Given the description of an element on the screen output the (x, y) to click on. 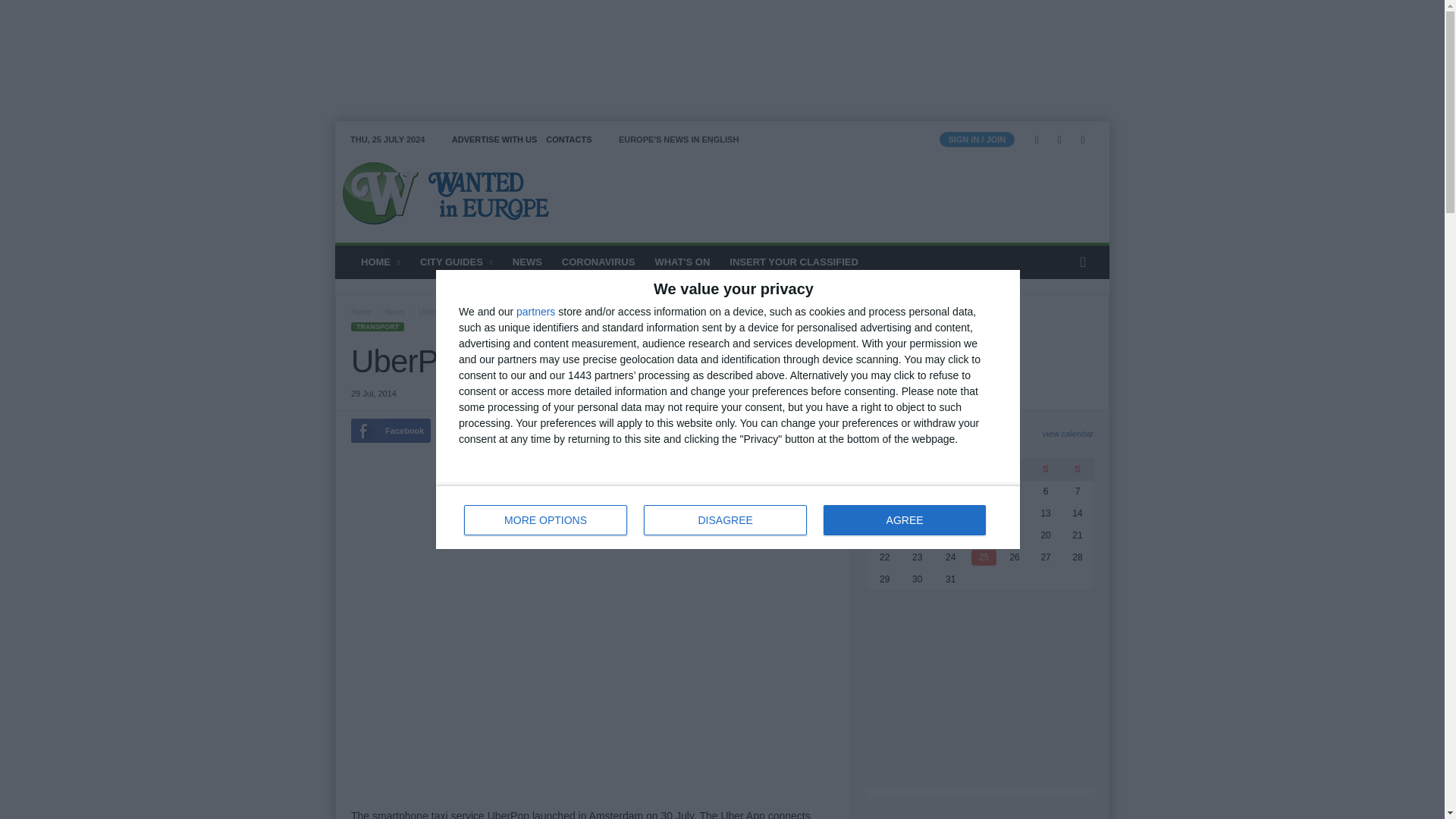
DISAGREE (724, 520)
Wanted in Europe (437, 192)
partners (535, 311)
ADVERTISE WITH US (494, 139)
Twitter (1059, 139)
MORE OPTIONS (545, 520)
Facebook (1036, 139)
Youtube (1083, 139)
CONTACTS (568, 139)
AGREE (727, 516)
